Given the description of an element on the screen output the (x, y) to click on. 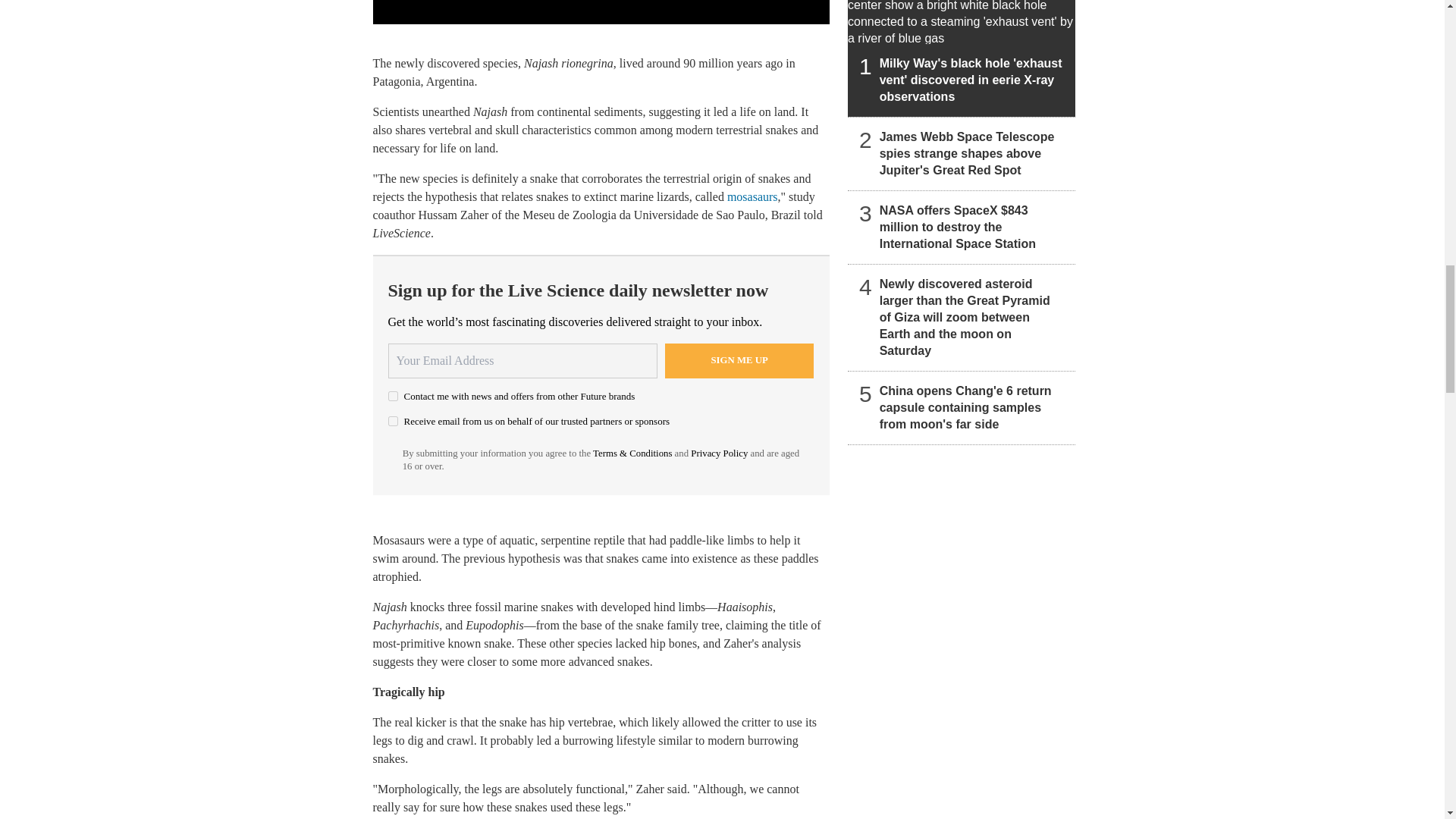
Sign me up (739, 360)
on (392, 396)
on (392, 420)
